Given the description of an element on the screen output the (x, y) to click on. 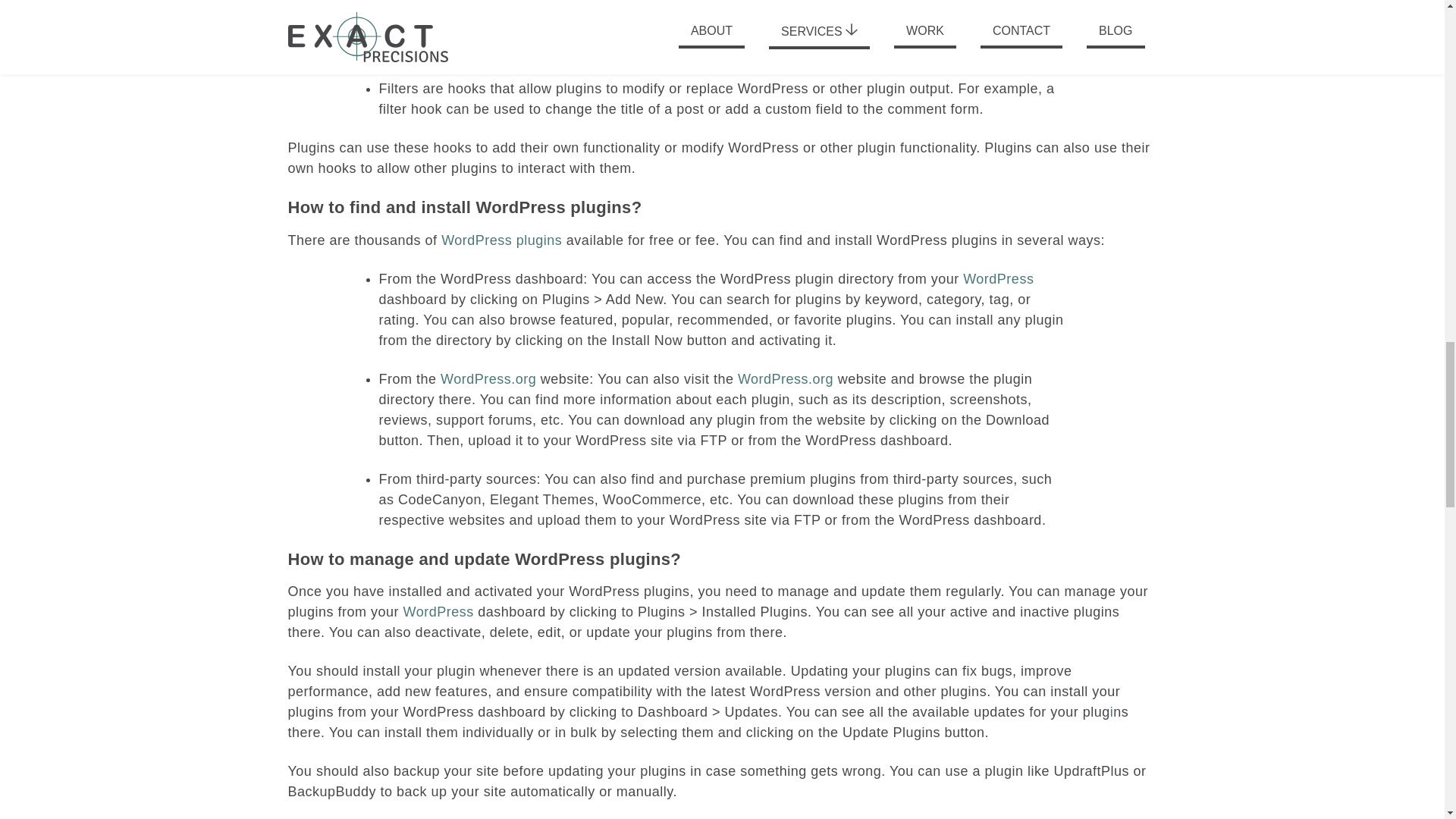
WordPress.org (785, 378)
WordPress plugins (501, 240)
WordPress (438, 611)
WordPress (997, 278)
WordPress.org (488, 378)
